Given the description of an element on the screen output the (x, y) to click on. 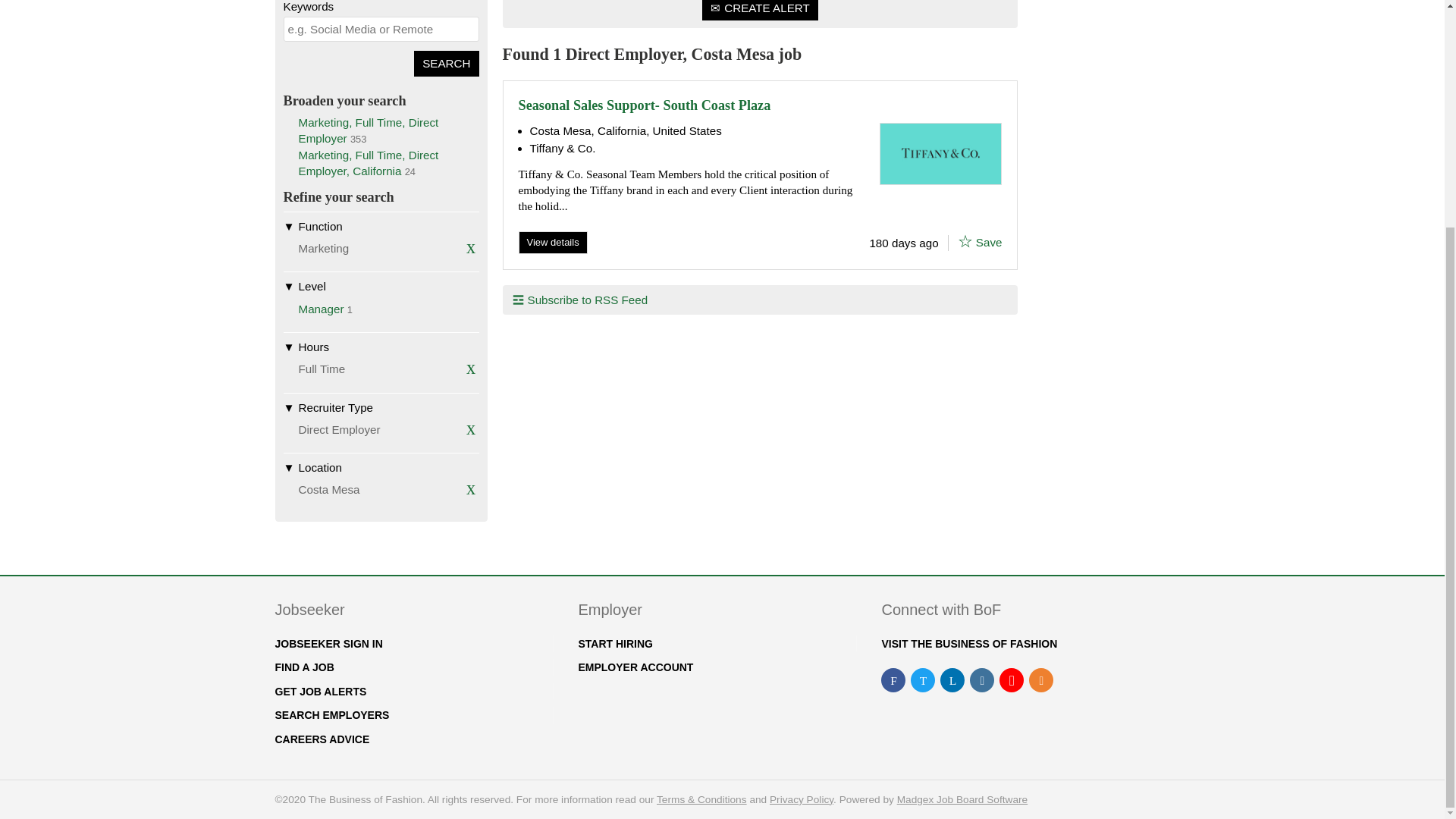
Seasonal Sales Support- South Coast Plaza (644, 105)
Level (381, 285)
Location (381, 466)
Function (381, 225)
Subscribe to RSS Feed (579, 300)
CREATE ALERT (759, 10)
Add to shortlist (553, 241)
Manager (965, 240)
Recruiter Type (320, 308)
Hours (381, 407)
Search (381, 346)
Marketing, Full Time, Direct Employer, California (446, 63)
Marketing, Full Time, Direct Employer (980, 240)
